Given the description of an element on the screen output the (x, y) to click on. 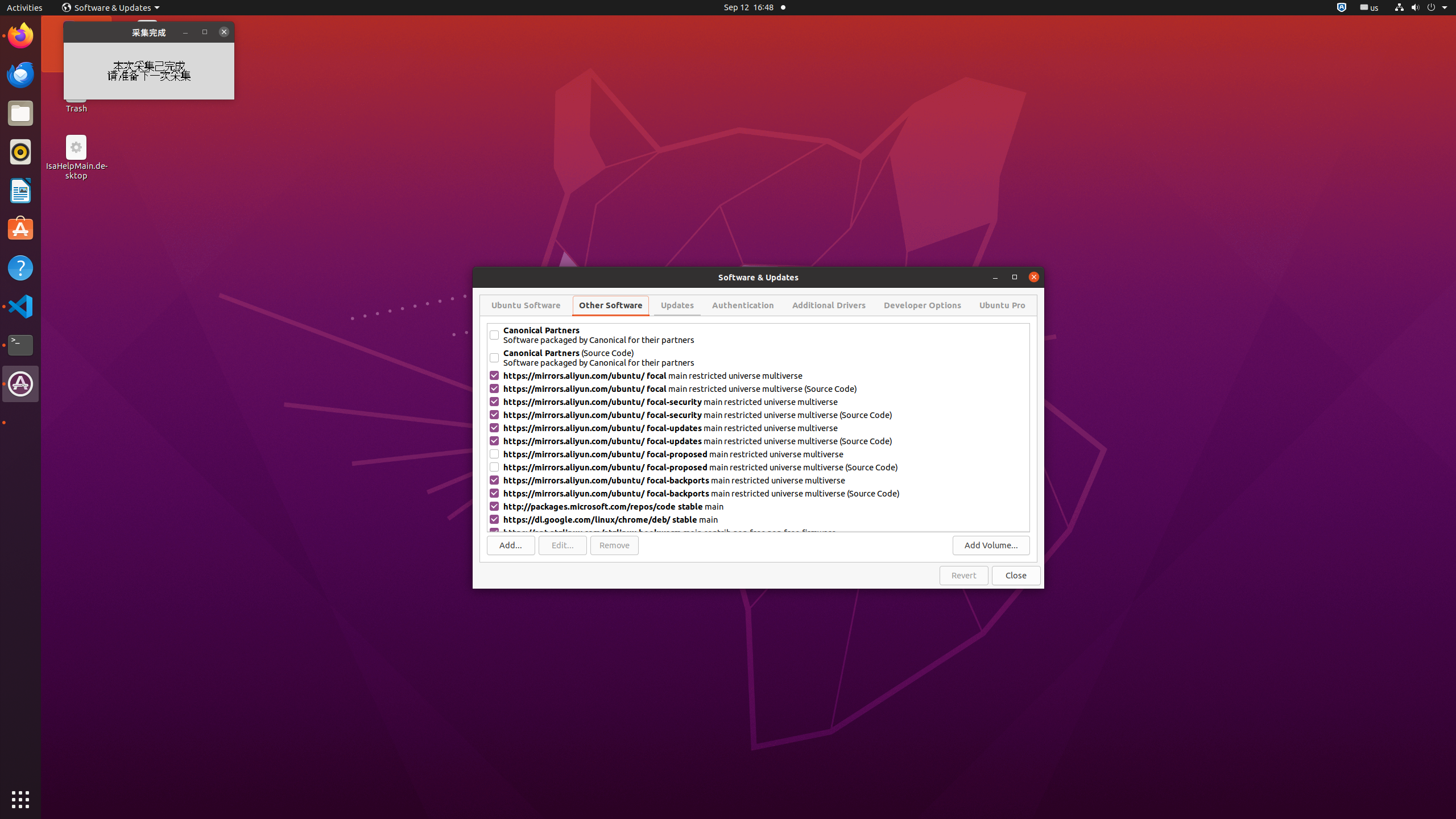
Revert Element type: push-button (963, 575)
IsaHelpMain.desktop Element type: label (75, 170)
Terminal Element type: push-button (20, 344)
